Given the description of an element on the screen output the (x, y) to click on. 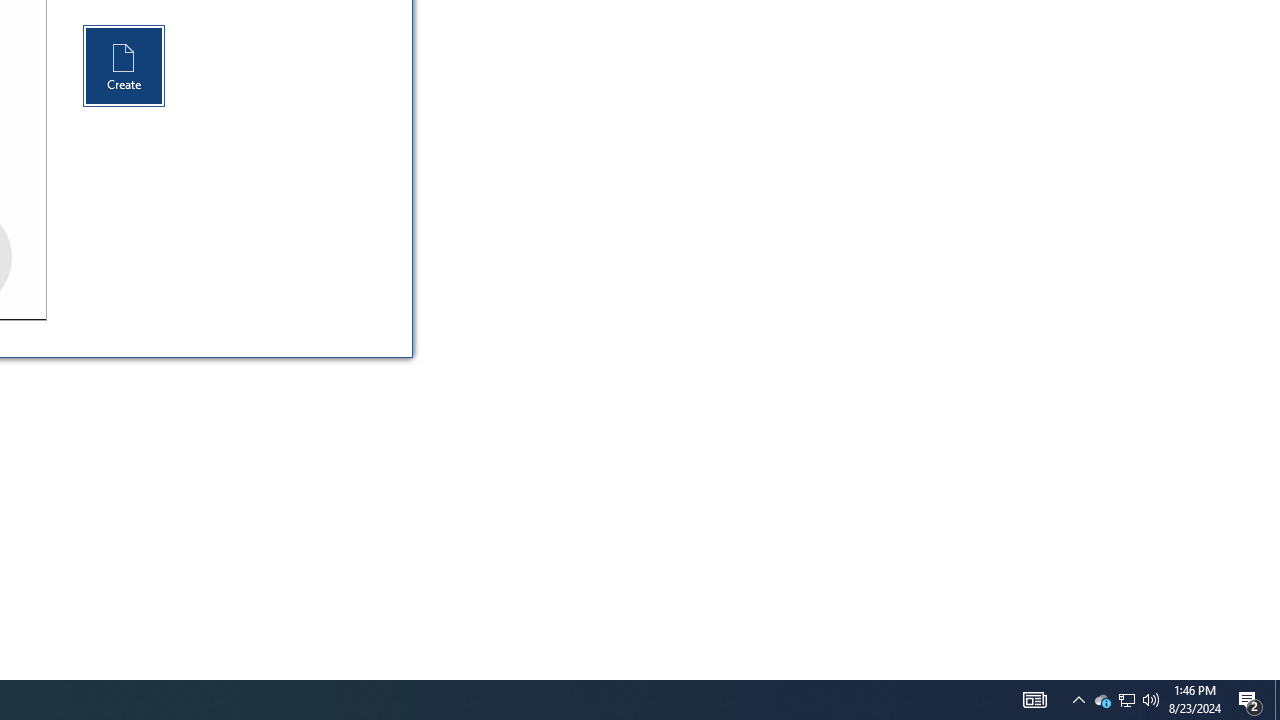
Create (1102, 699)
Notification Chevron (124, 66)
Q2790: 100% (1078, 699)
Action Center, 2 new notifications (1151, 699)
AutomationID: 4105 (1250, 699)
User Promoted Notification Area (1126, 699)
Show desktop (1034, 699)
